Given the description of an element on the screen output the (x, y) to click on. 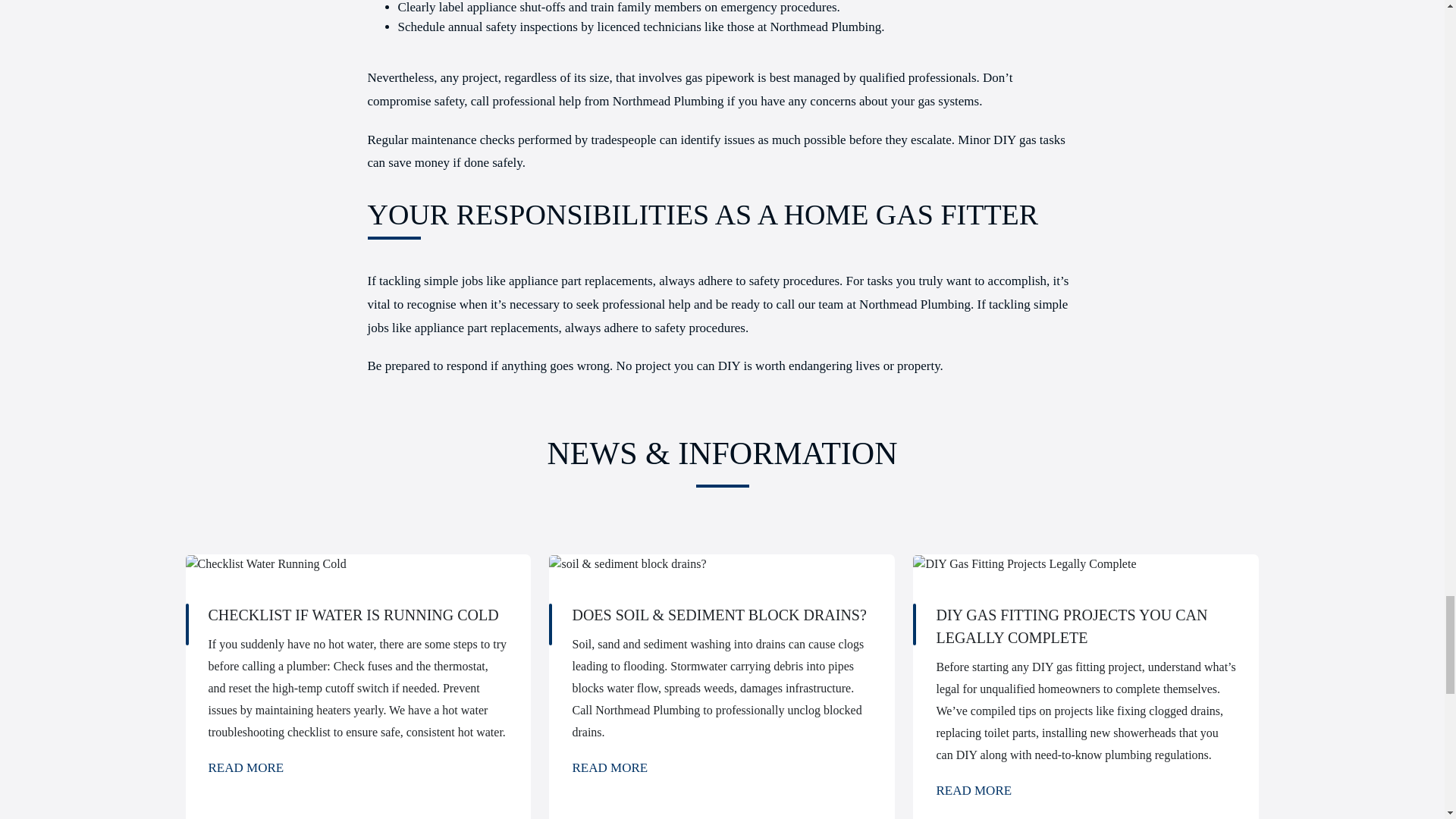
Read: DIY Gas Fitting Projects You Can Legally Complete (973, 789)
READ MORE (973, 789)
READ MORE (609, 767)
READ MORE (245, 767)
Read: Checklist if Water is Running Cold (245, 767)
